Given the description of an element on the screen output the (x, y) to click on. 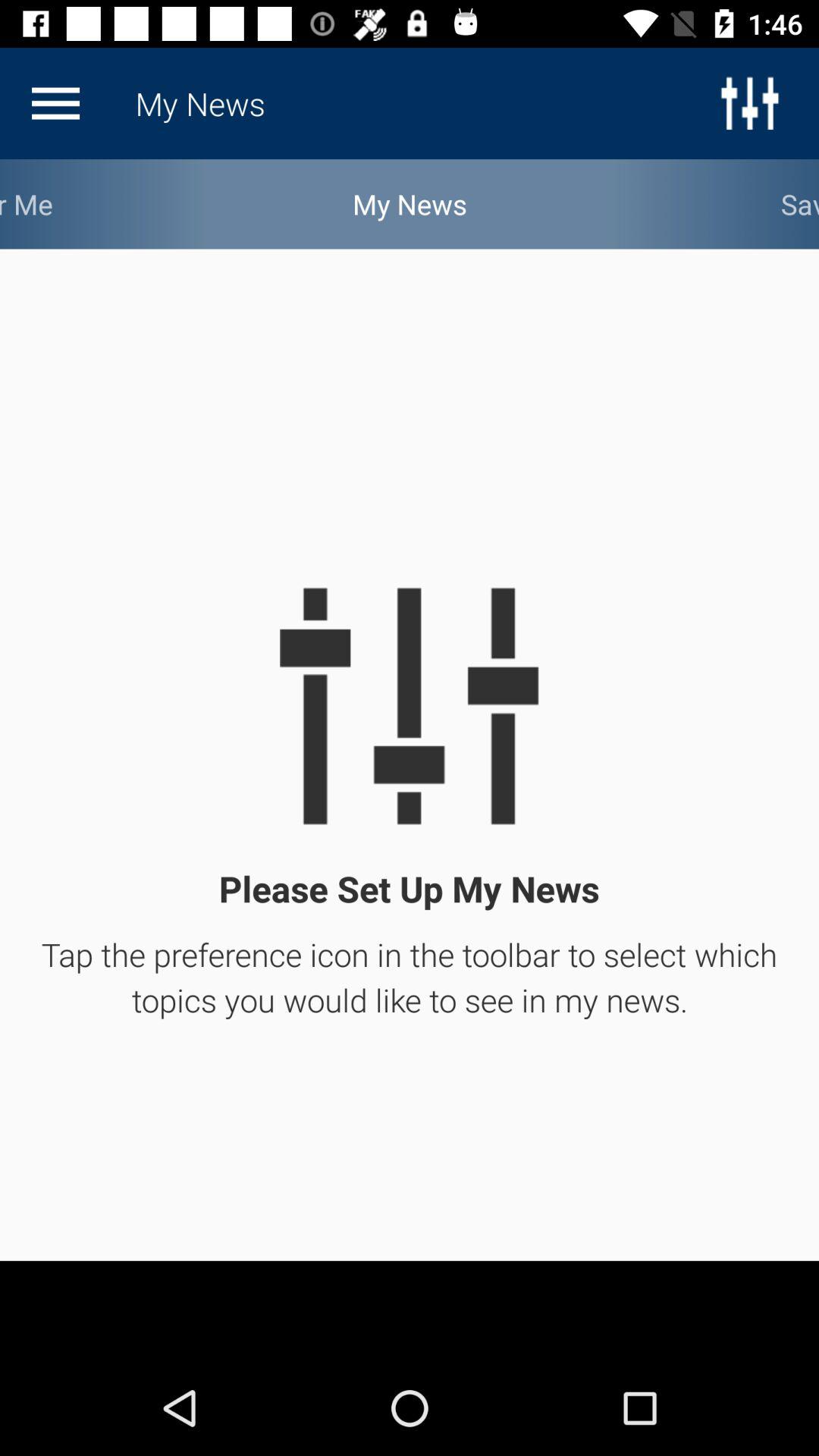
go to customize (55, 103)
